Given the description of an element on the screen output the (x, y) to click on. 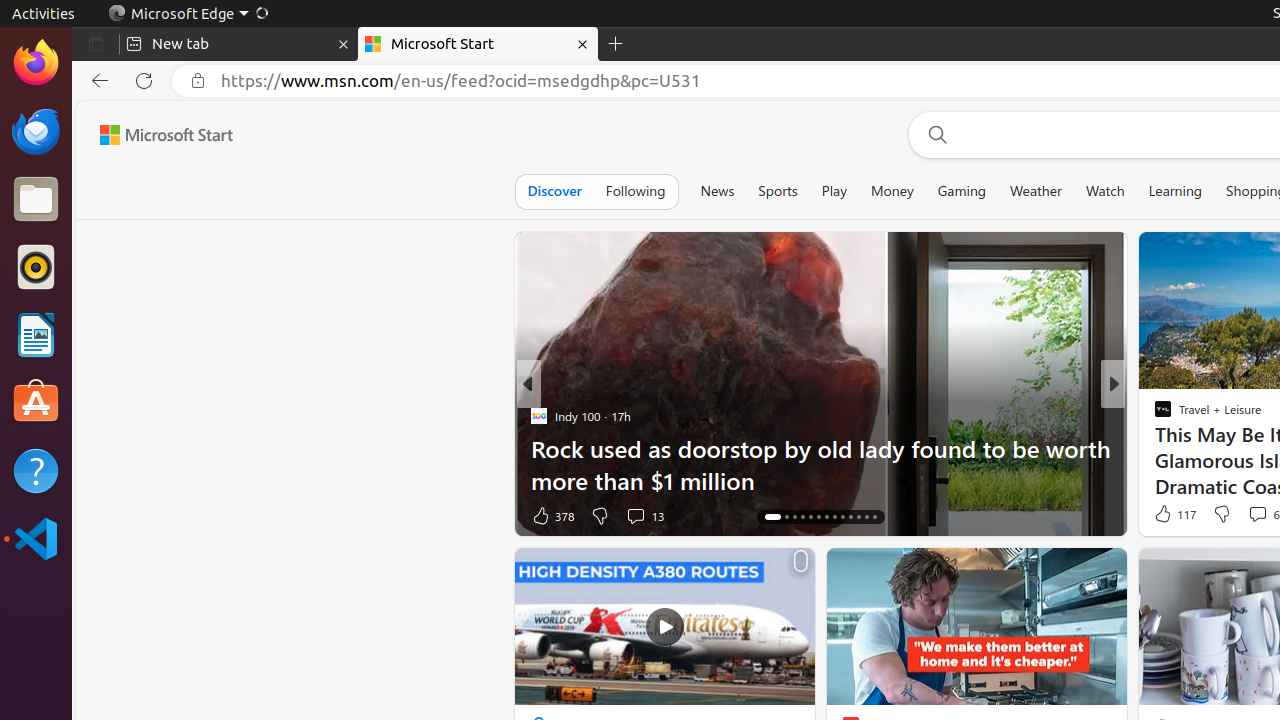
View comments 37 Comment Element type: push-button (1251, 515)
205 Like Element type: toggle-button (1168, 515)
Visual Studio Code Element type: push-button (36, 538)
Web search Element type: push-button (933, 135)
Ubuntu Software Element type: push-button (36, 402)
